Given the description of an element on the screen output the (x, y) to click on. 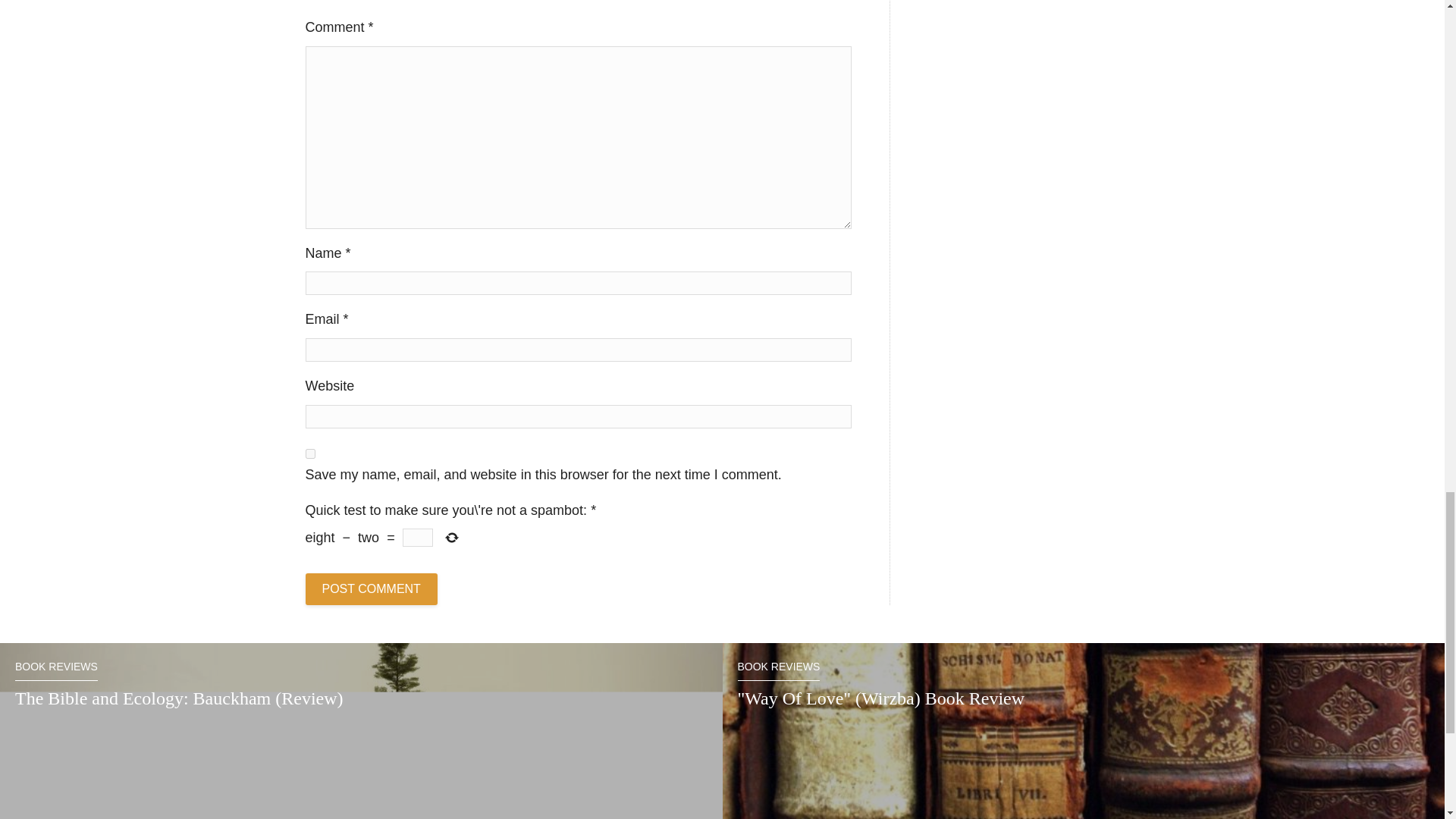
BOOK REVIEWS (55, 670)
Post Comment (370, 589)
Post Comment (370, 589)
yes (309, 453)
BOOK REVIEWS (777, 670)
